Given the description of an element on the screen output the (x, y) to click on. 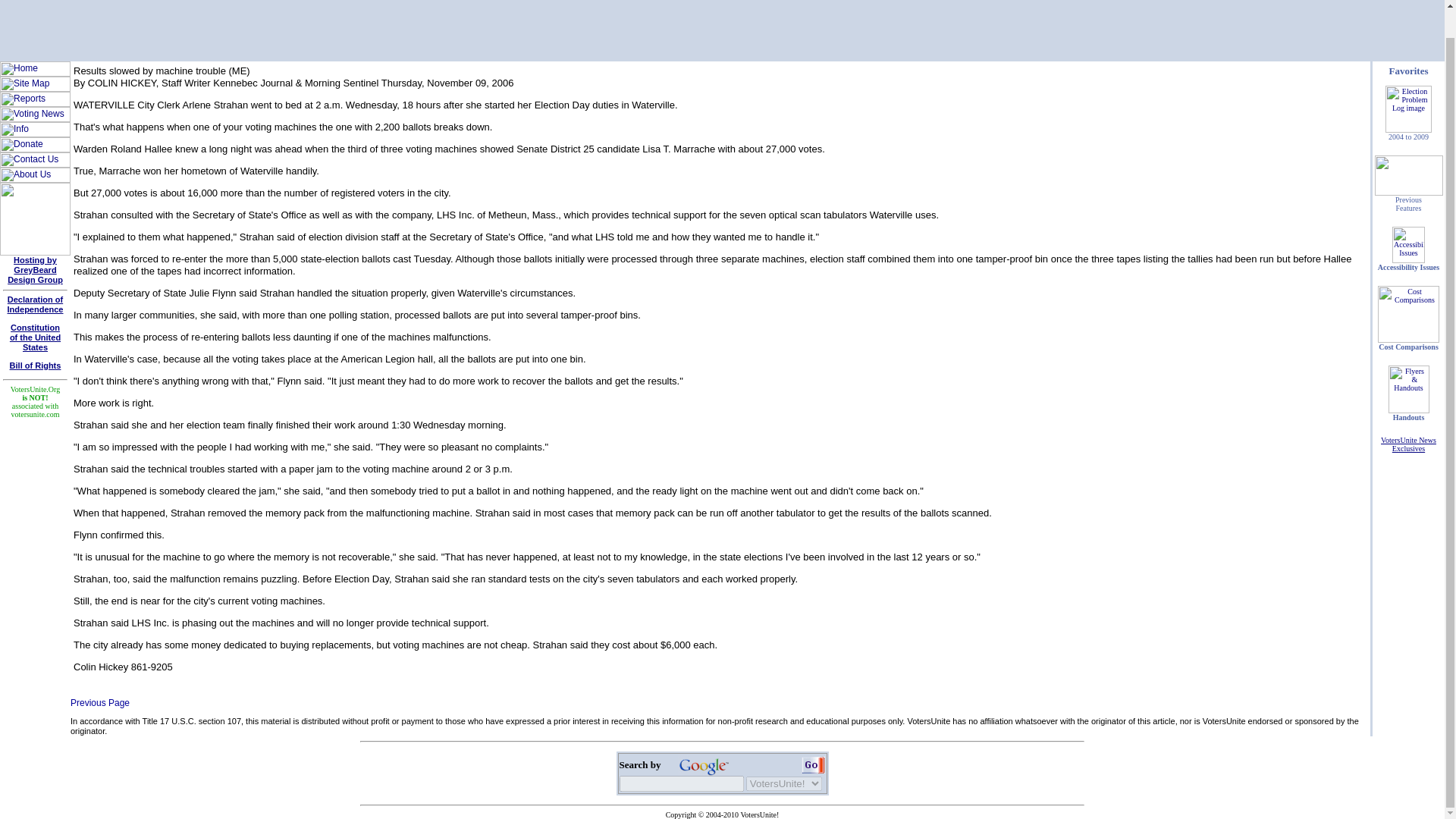
Bill of Rights (35, 365)
Powered by Google (35, 337)
Previous Page (703, 764)
VotersUnite News Exclusives (99, 702)
Declaration of Independence (1407, 443)
Google Search (35, 303)
